Given the description of an element on the screen output the (x, y) to click on. 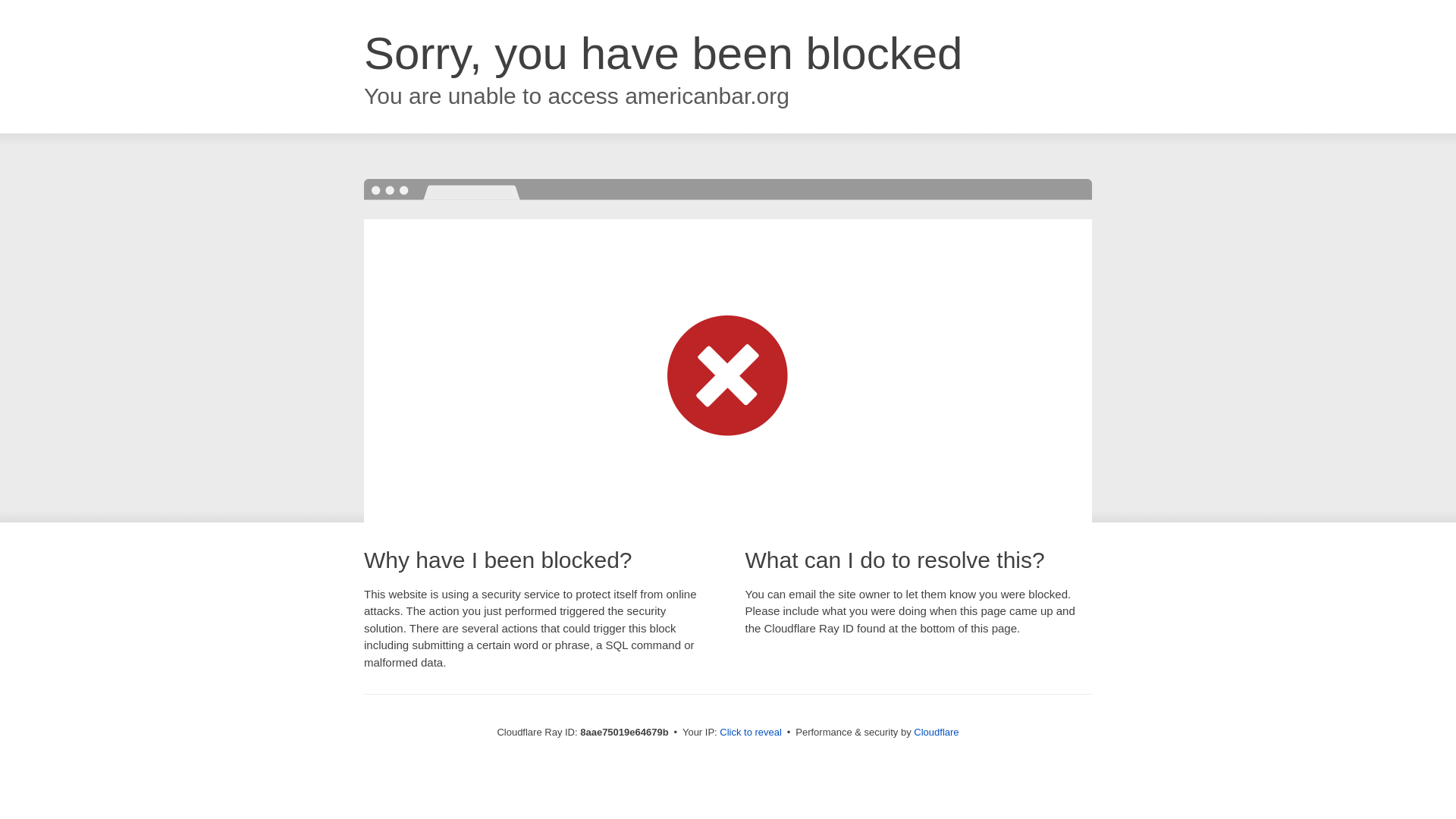
Cloudflare (936, 731)
Click to reveal (750, 732)
